Given the description of an element on the screen output the (x, y) to click on. 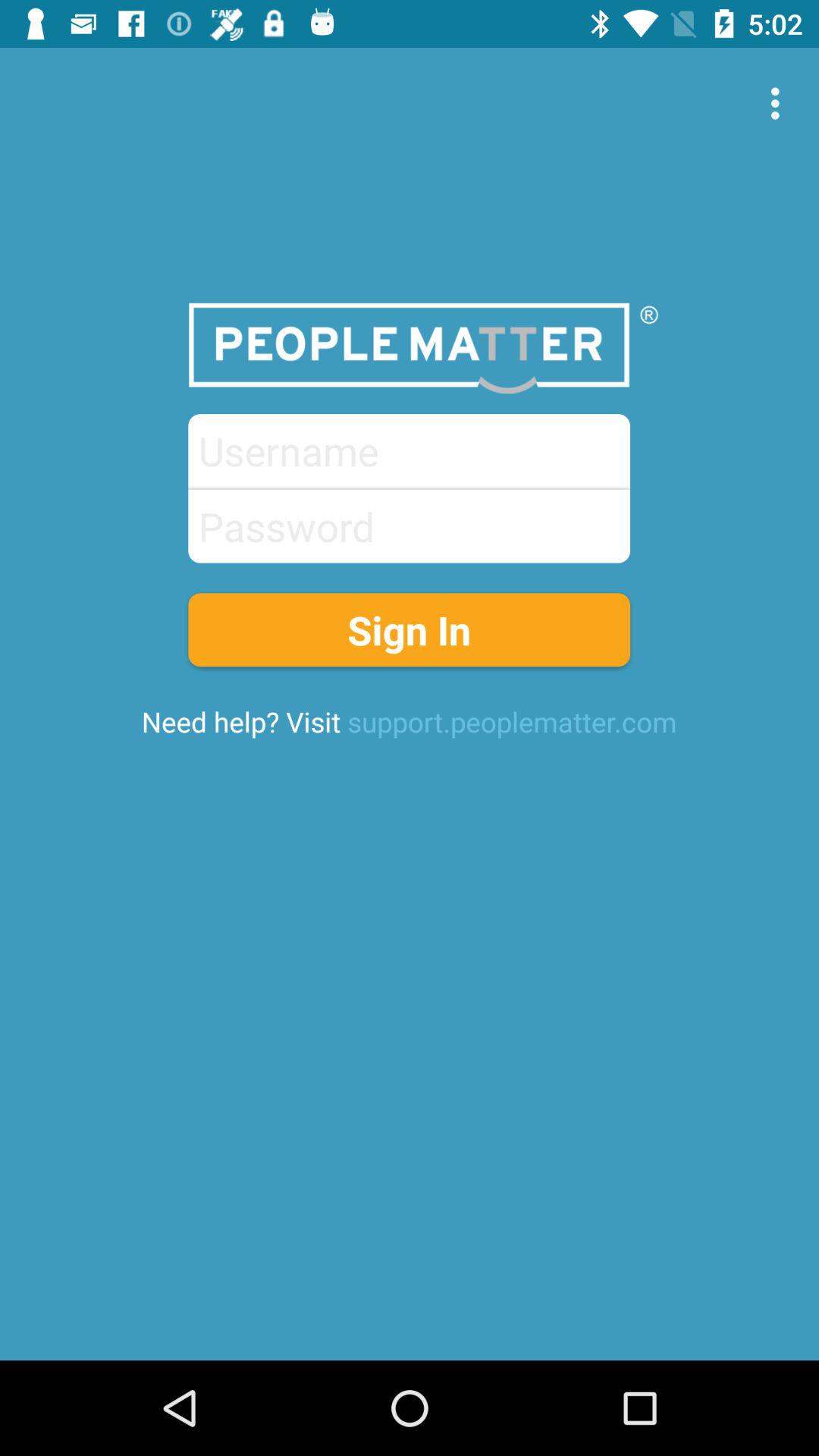
turn on the icon below the sign in item (408, 721)
